Given the description of an element on the screen output the (x, y) to click on. 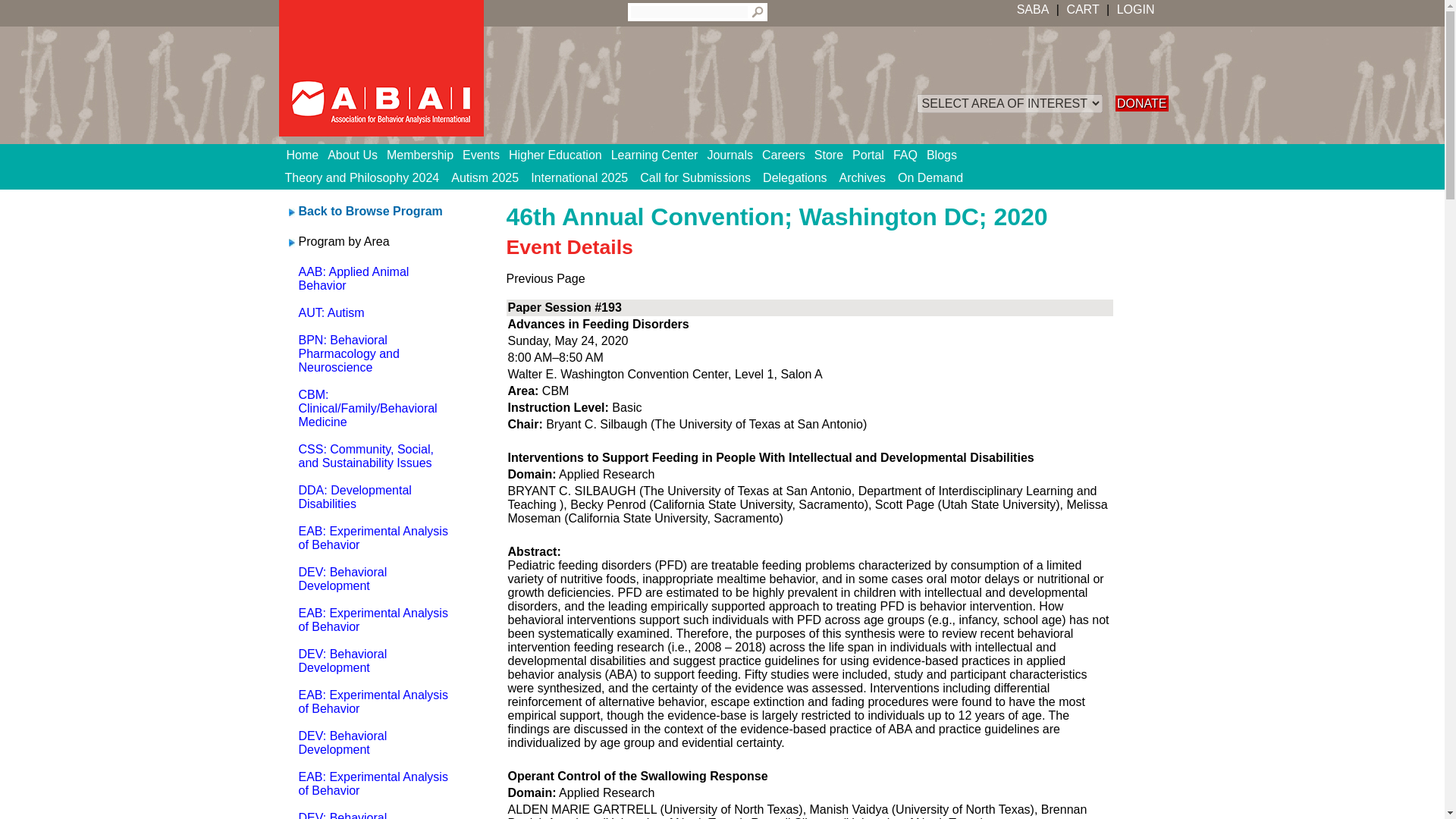
Higher Education (559, 155)
Call for Submissions (695, 178)
LOGIN (1133, 9)
Blogs (946, 155)
Back to search (370, 210)
Delegations (794, 178)
About Us (357, 155)
International 2025 (578, 178)
Home (307, 155)
Back to Browse Program (370, 210)
